Given the description of an element on the screen output the (x, y) to click on. 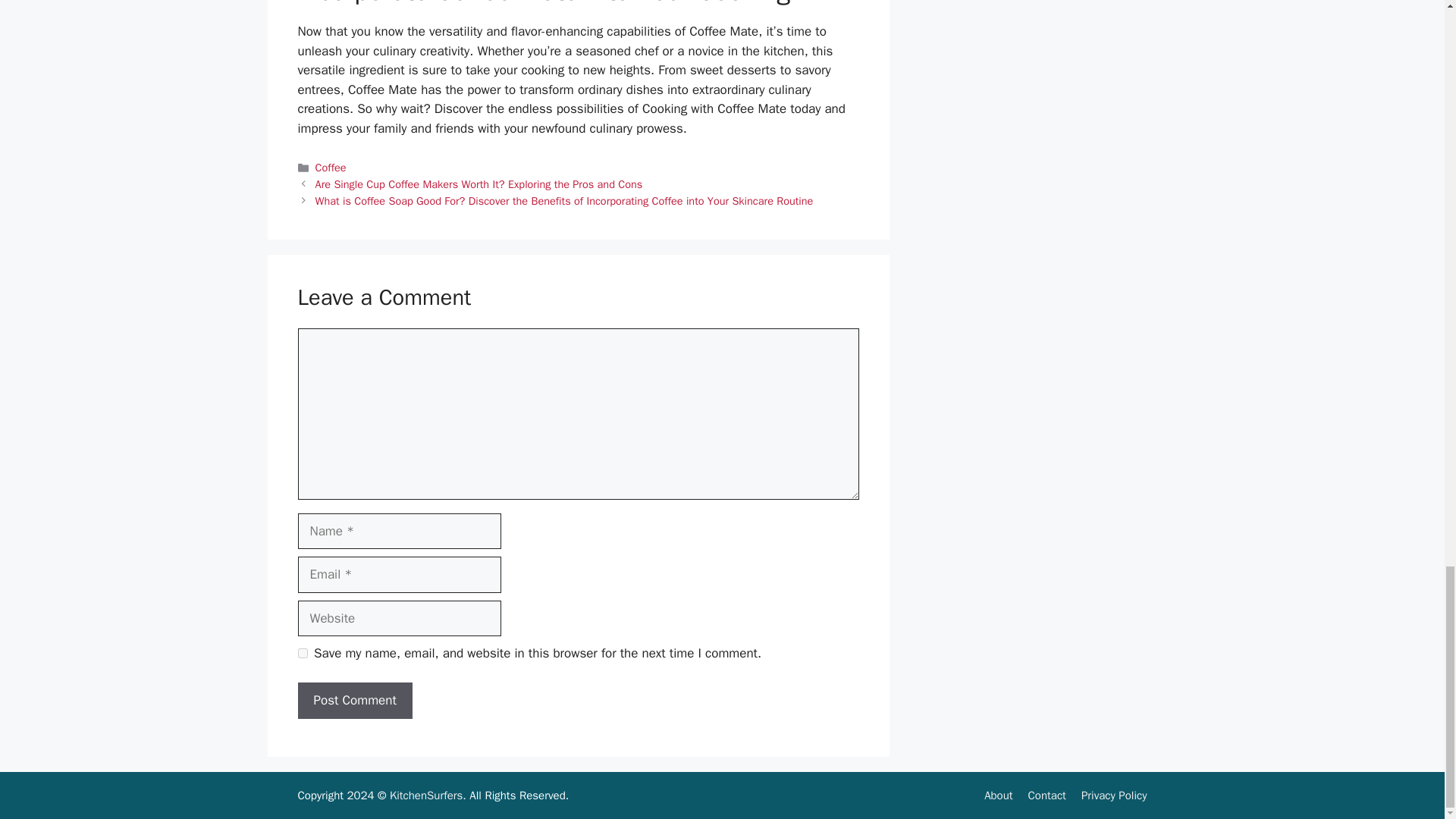
Contact (1046, 795)
yes (302, 653)
Privacy Policy (1114, 795)
Coffee (330, 167)
About (997, 795)
Post Comment (354, 700)
KitchenSurfers (426, 795)
Post Comment (354, 700)
